Given the description of an element on the screen output the (x, y) to click on. 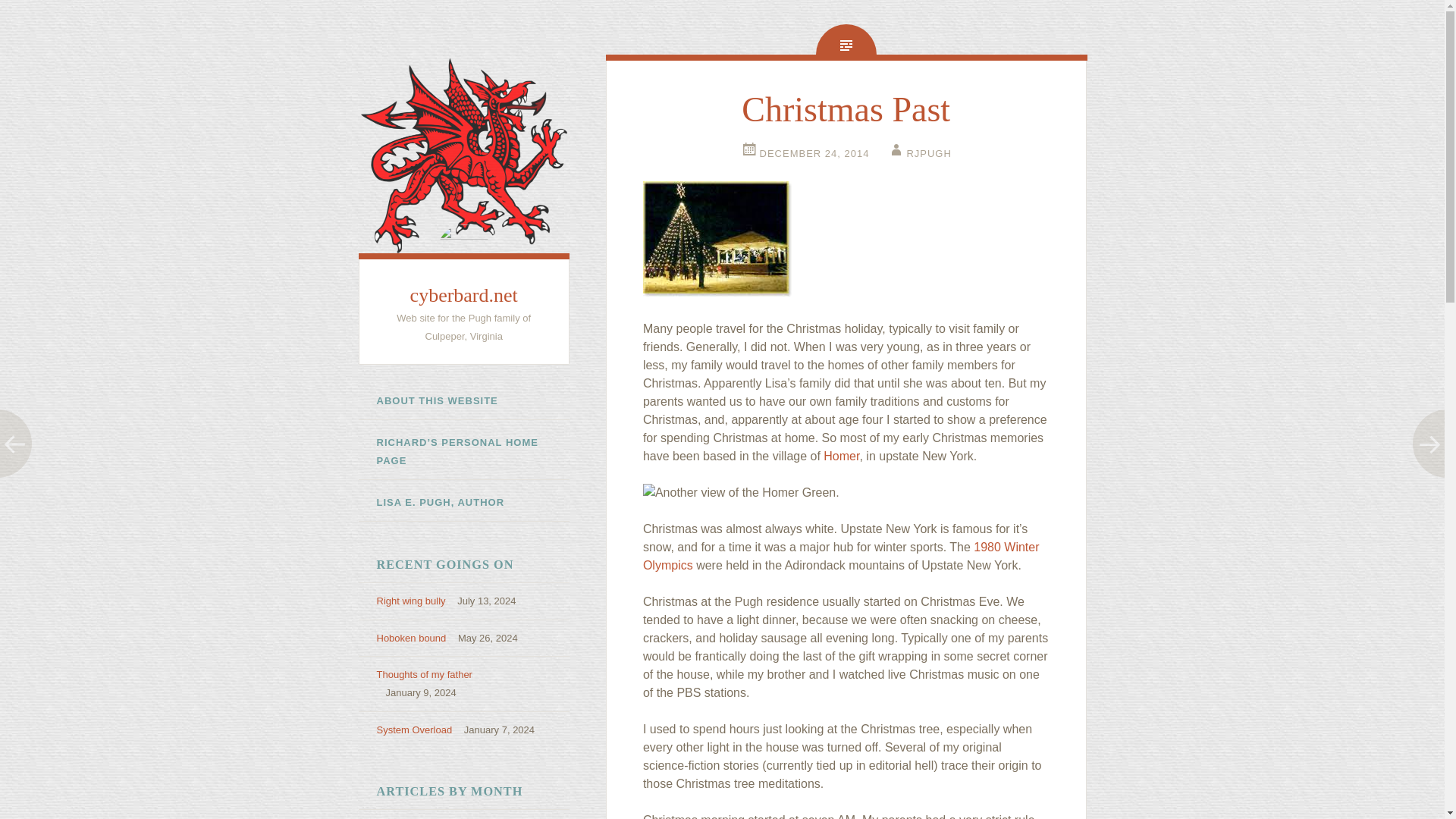
Homer (841, 455)
RJPUGH (918, 153)
LISA E. PUGH, AUTHOR (463, 502)
Hoboken bound (410, 637)
Thoughts of my father (423, 674)
Right wing bully (410, 600)
1980 Winter Olympics (841, 555)
ABOUT THIS WEBSITE (463, 401)
View all posts by rjpugh (918, 153)
8:53 pm (805, 153)
